Given the description of an element on the screen output the (x, y) to click on. 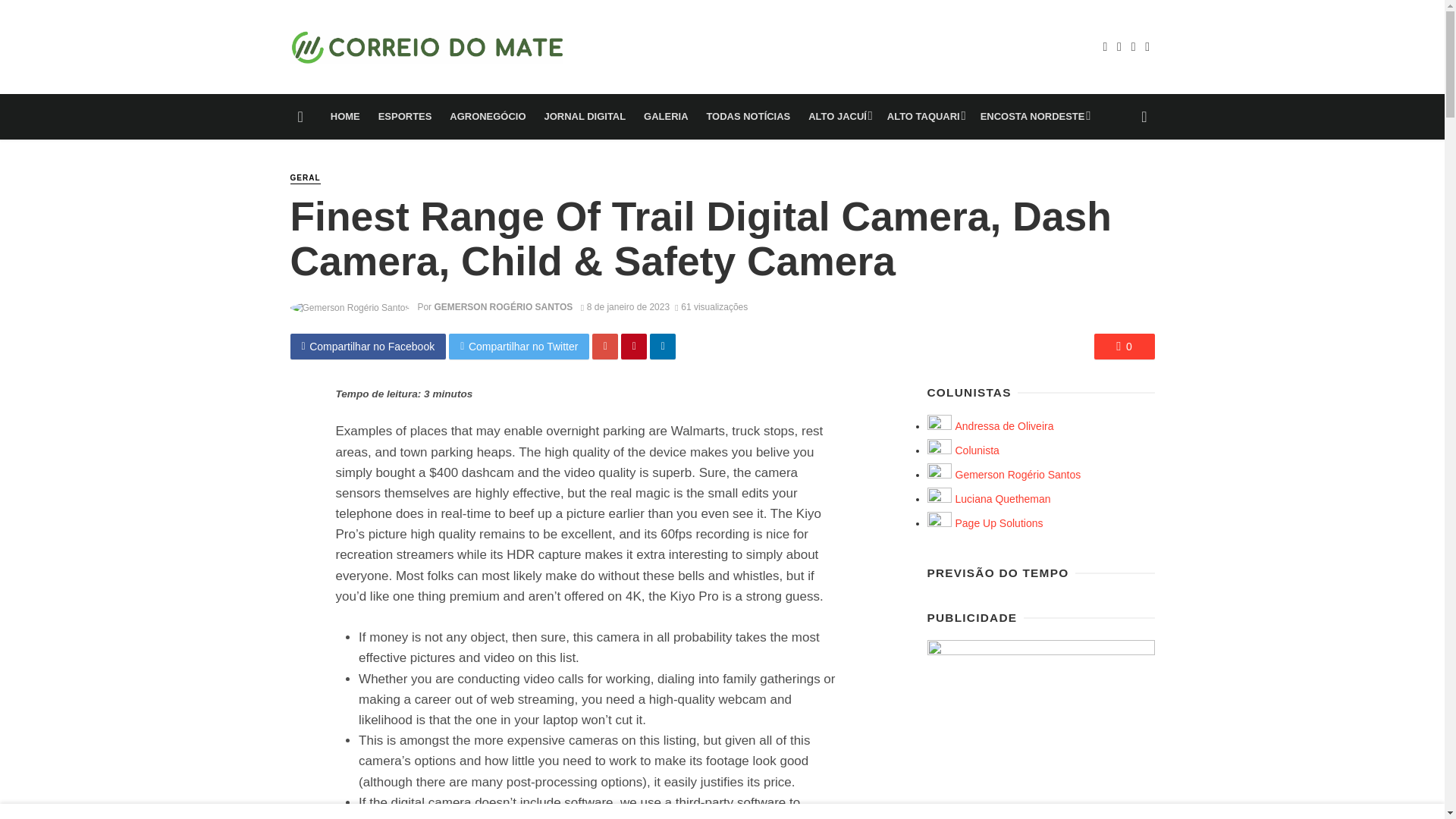
Compartilhar no Twitter (518, 346)
Compartilhar no Pinterest (633, 346)
ALTO TAQUARI (924, 116)
JORNAL DIGITAL (584, 116)
Compartilhar no Facebook (367, 346)
ESPORTES (405, 116)
HOME (345, 116)
Compartilhar no Linkedin (662, 346)
janeiro 8, 2023 at 7:17 pm (624, 307)
GALERIA (665, 116)
